Given the description of an element on the screen output the (x, y) to click on. 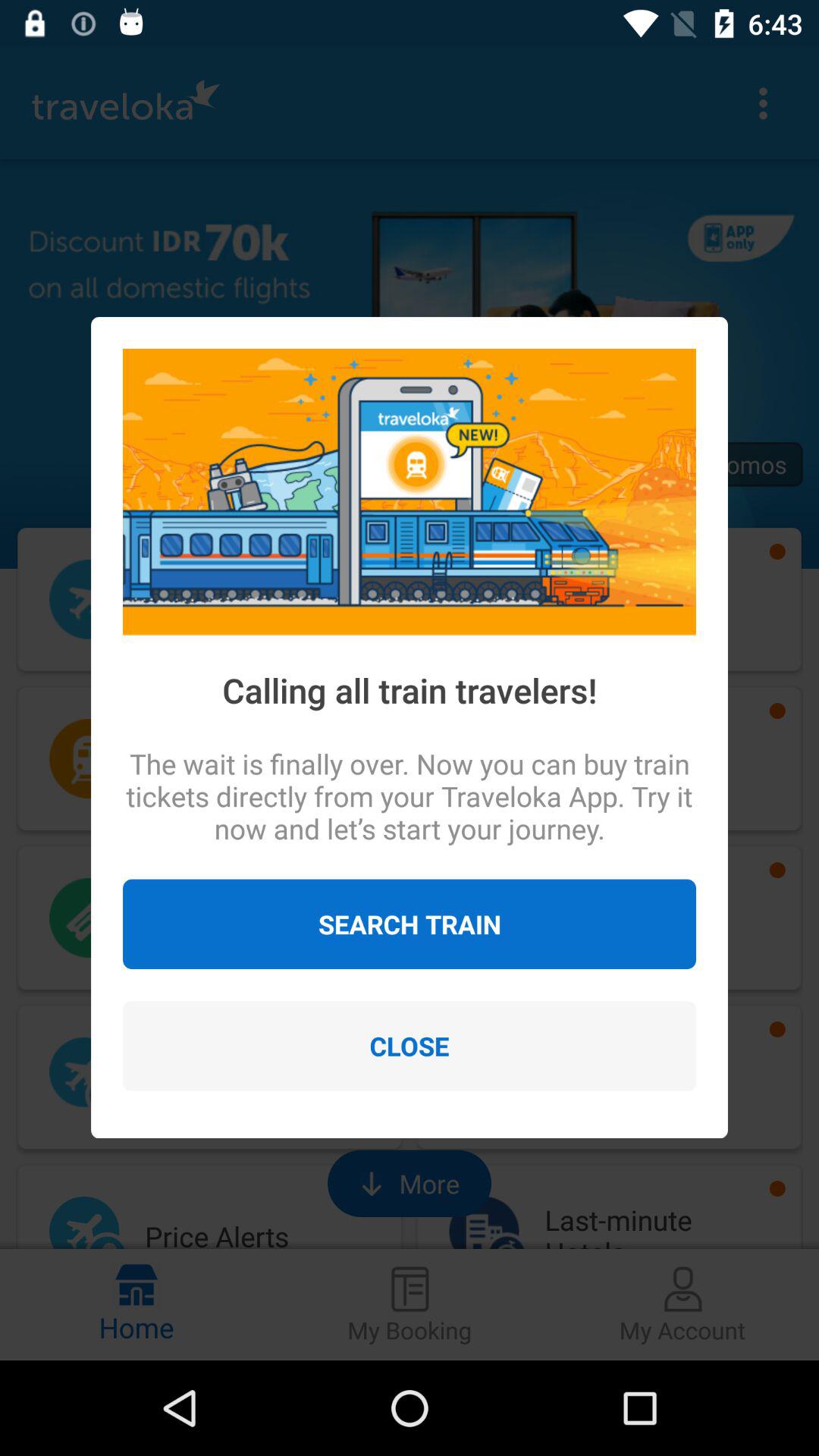
choose item below the search train item (409, 1045)
